Given the description of an element on the screen output the (x, y) to click on. 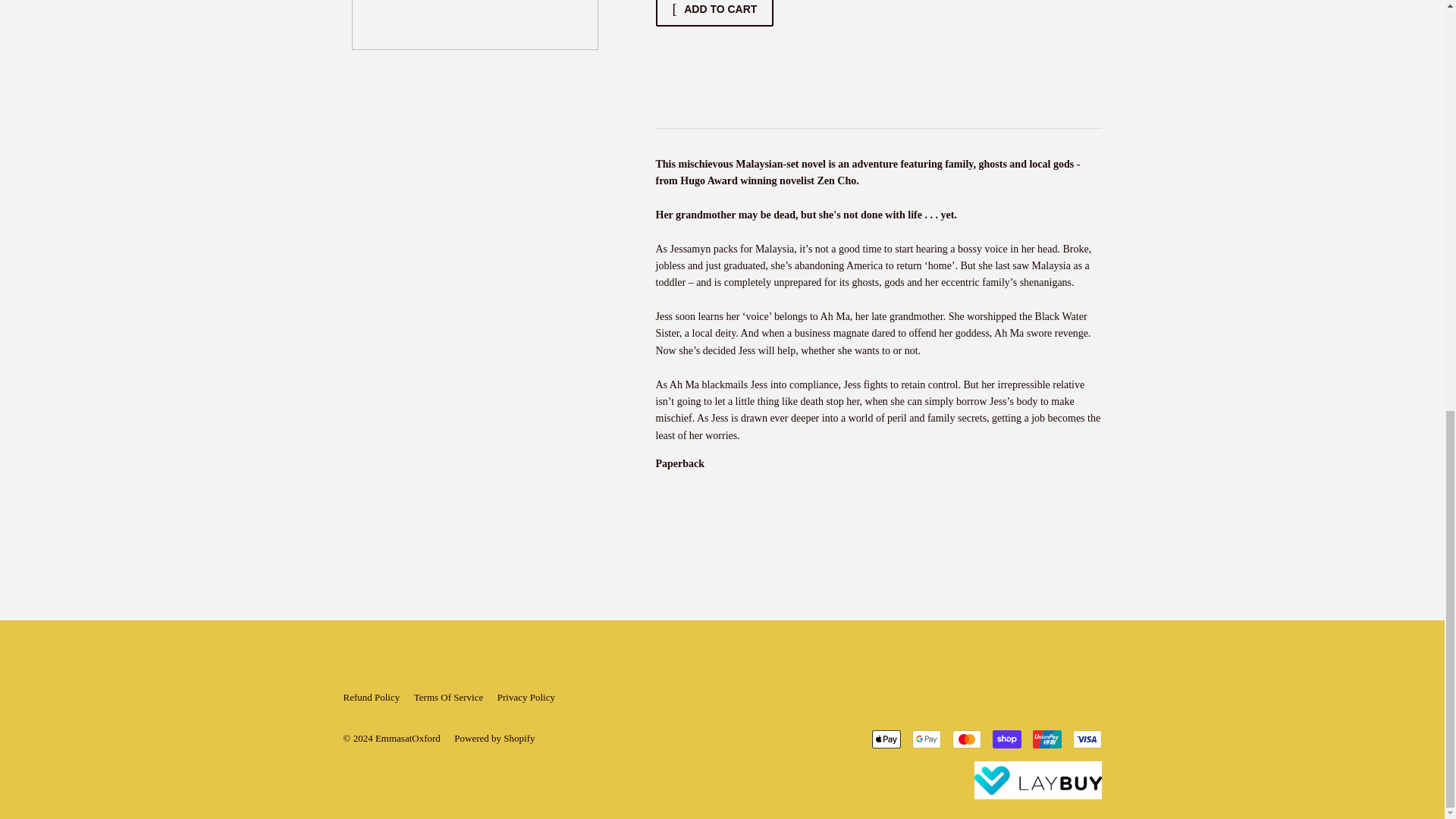
Google Pay (925, 739)
Mastercard (966, 739)
Apple Pay (886, 739)
Visa (1085, 739)
Shop Pay (1005, 739)
Union Pay (1046, 739)
